Given the description of an element on the screen output the (x, y) to click on. 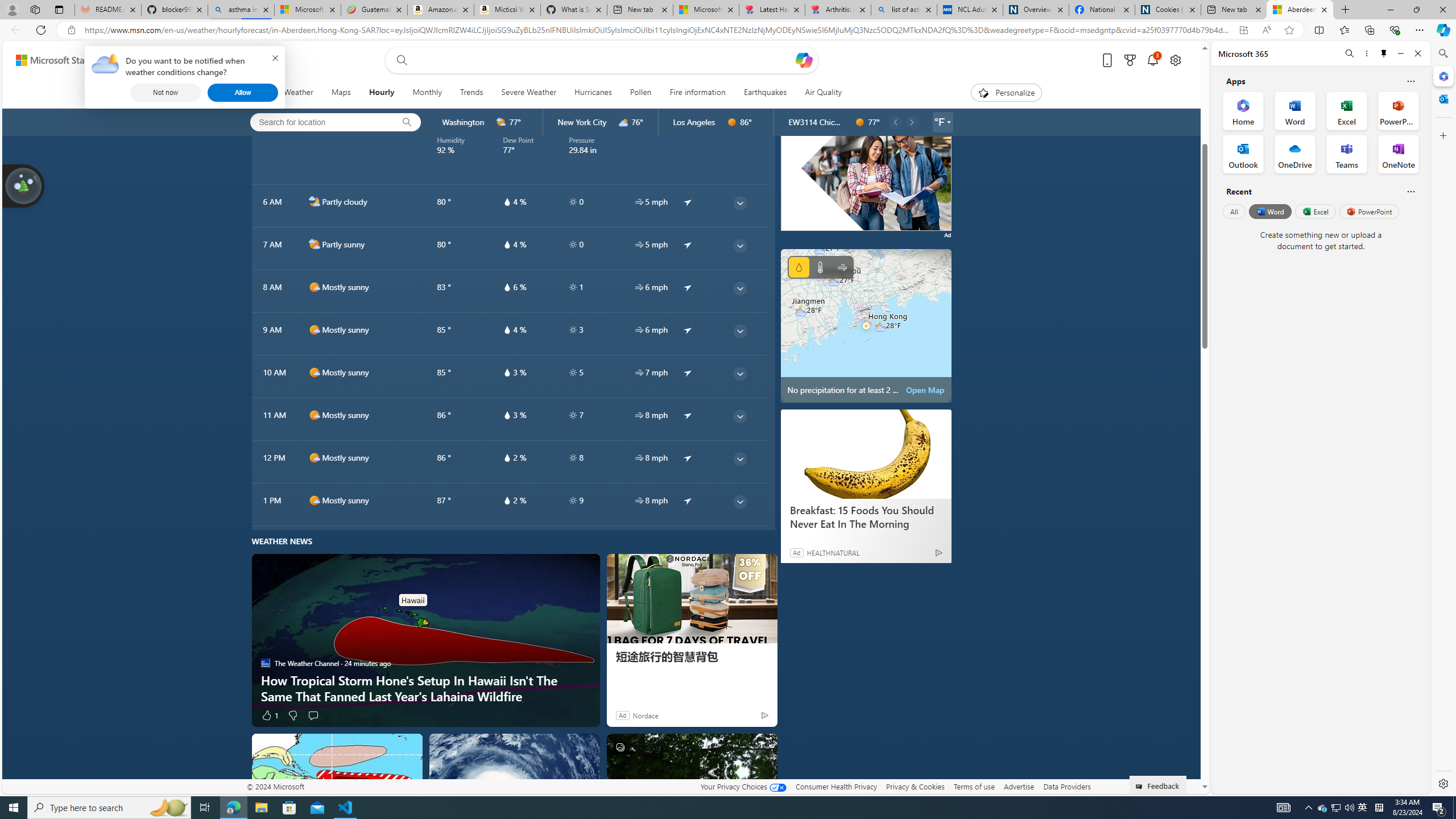
Home Office App (1243, 110)
Is this helpful? (1410, 191)
locationBar/search (406, 121)
Data Providers (1066, 785)
PowerPoint Office App (1398, 110)
